Given the description of an element on the screen output the (x, y) to click on. 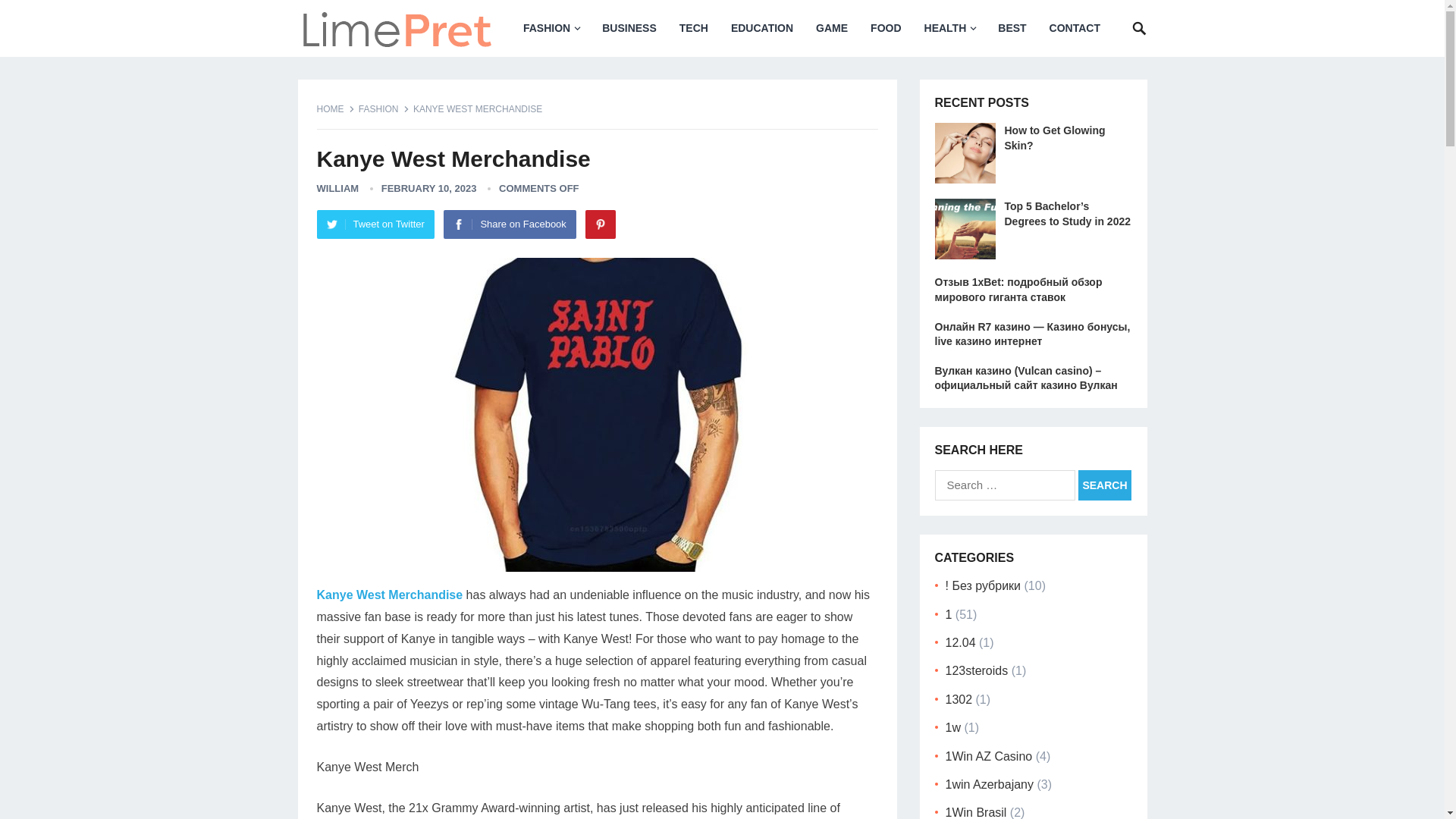
HOME (336, 109)
Search (1104, 485)
BEST (1011, 28)
Pinterest (600, 224)
Tweet on Twitter (375, 224)
WILLIAM (338, 188)
FOOD (885, 28)
FASHION (551, 28)
EDUCATION (762, 28)
BUSINESS (629, 28)
